Given the description of an element on the screen output the (x, y) to click on. 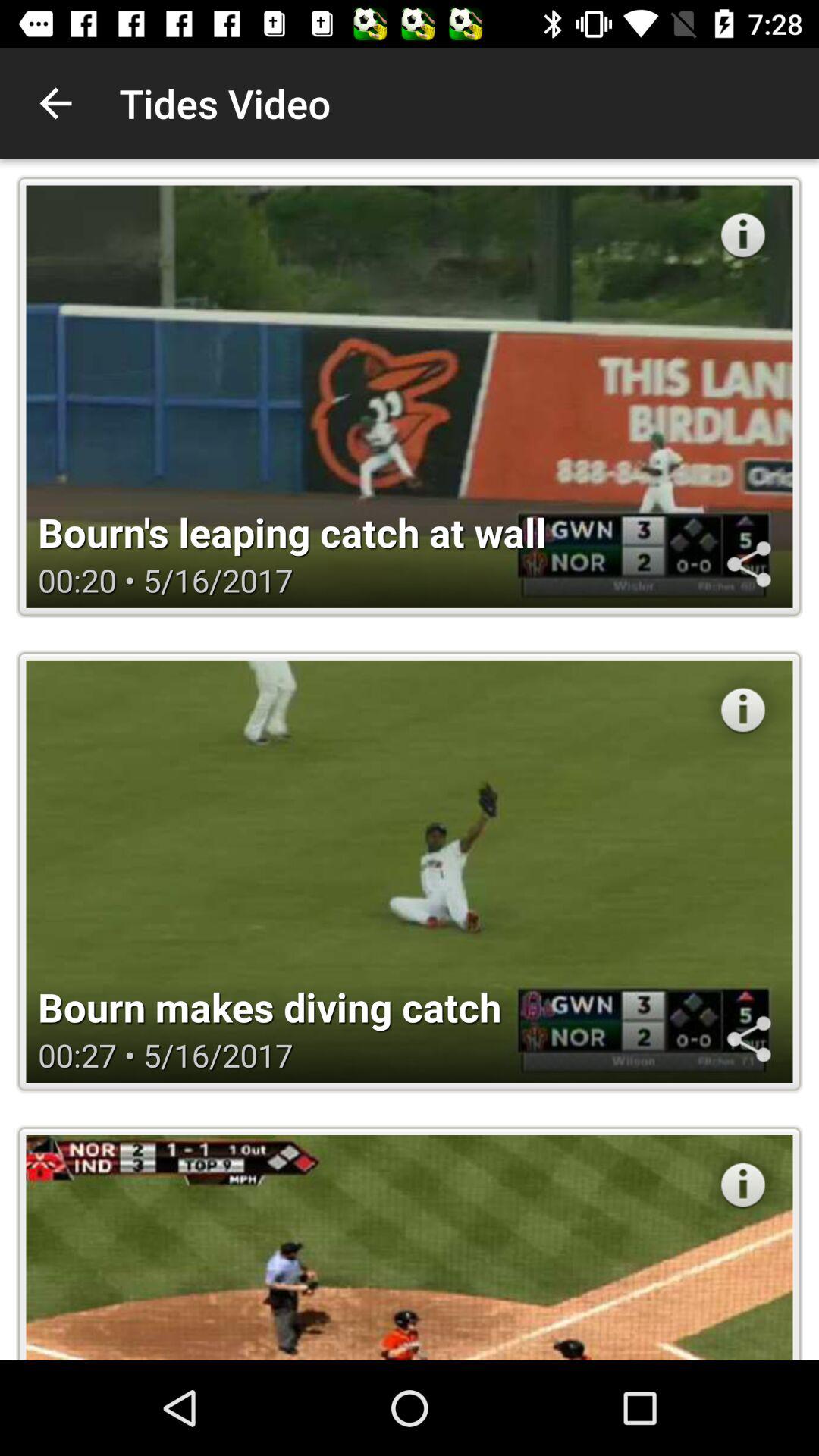
select the icon next to tides video icon (55, 103)
